Given the description of an element on the screen output the (x, y) to click on. 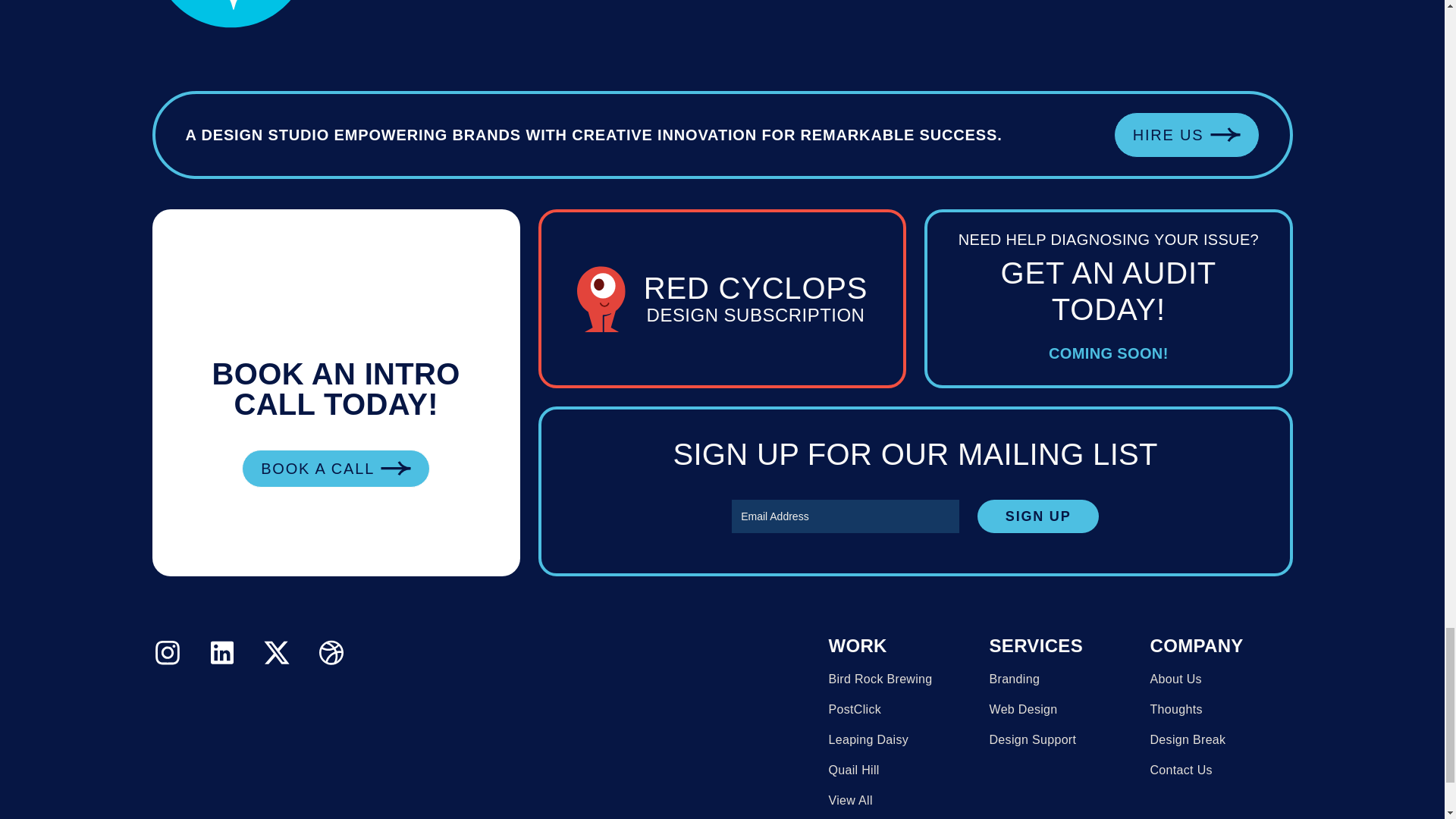
Sign up (1037, 516)
View All (850, 800)
Design Support (1031, 739)
PostClick (854, 709)
Sign up (1037, 516)
Design Break (1187, 739)
About Us (1175, 679)
Bird Rock Brewing (721, 298)
Quail Hill (879, 679)
Leaping Daisy (853, 770)
HIRE US (868, 739)
BOOK A CALL (1186, 135)
Branding (335, 468)
